Given the description of an element on the screen output the (x, y) to click on. 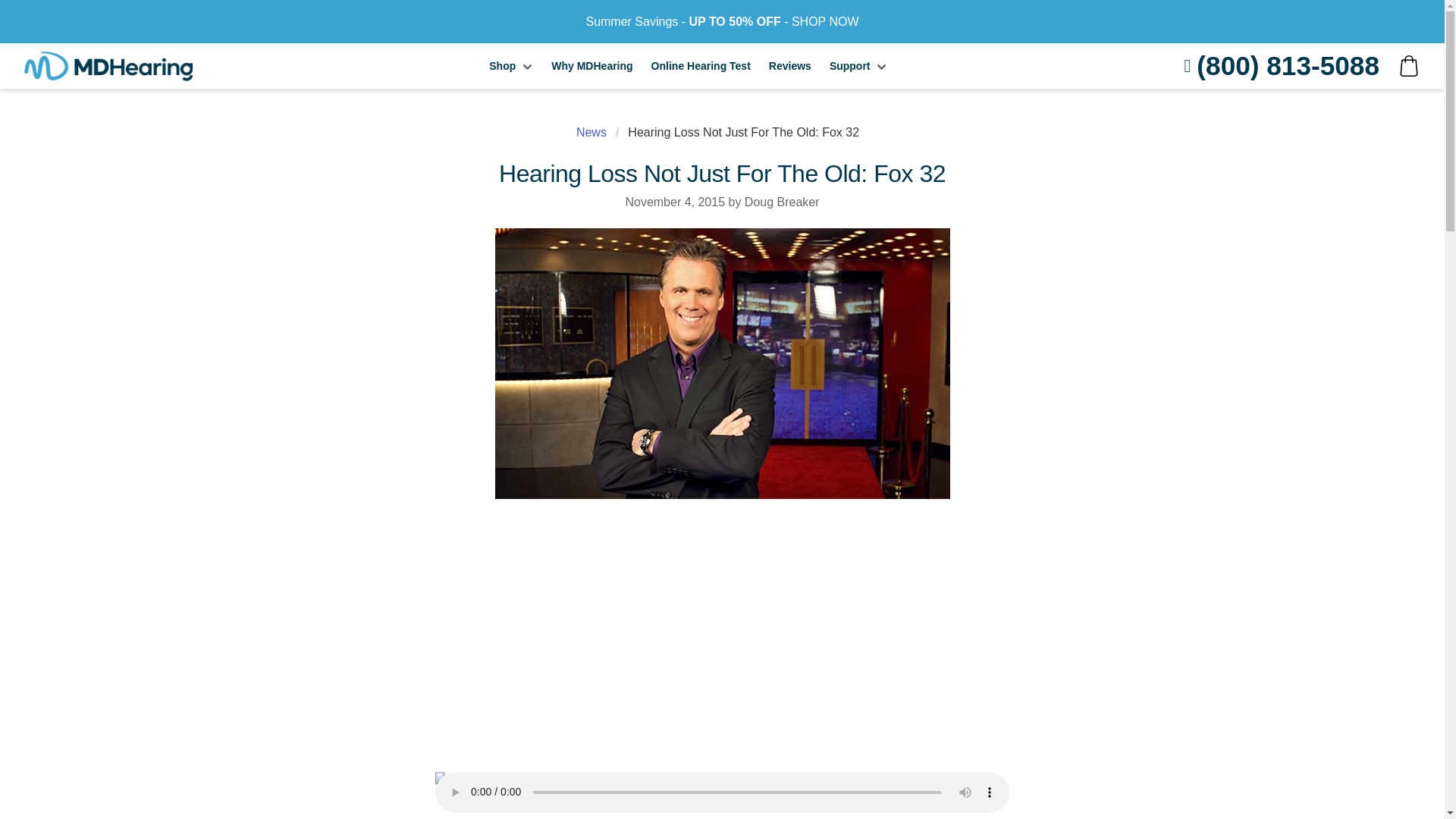
Hearing Loss Not Just For The Old: Fox 32 (742, 132)
Reviews (790, 65)
Shop (510, 65)
Online Hearing Test (701, 65)
Why MDHearing (591, 65)
Support (858, 65)
News (595, 132)
